Given the description of an element on the screen output the (x, y) to click on. 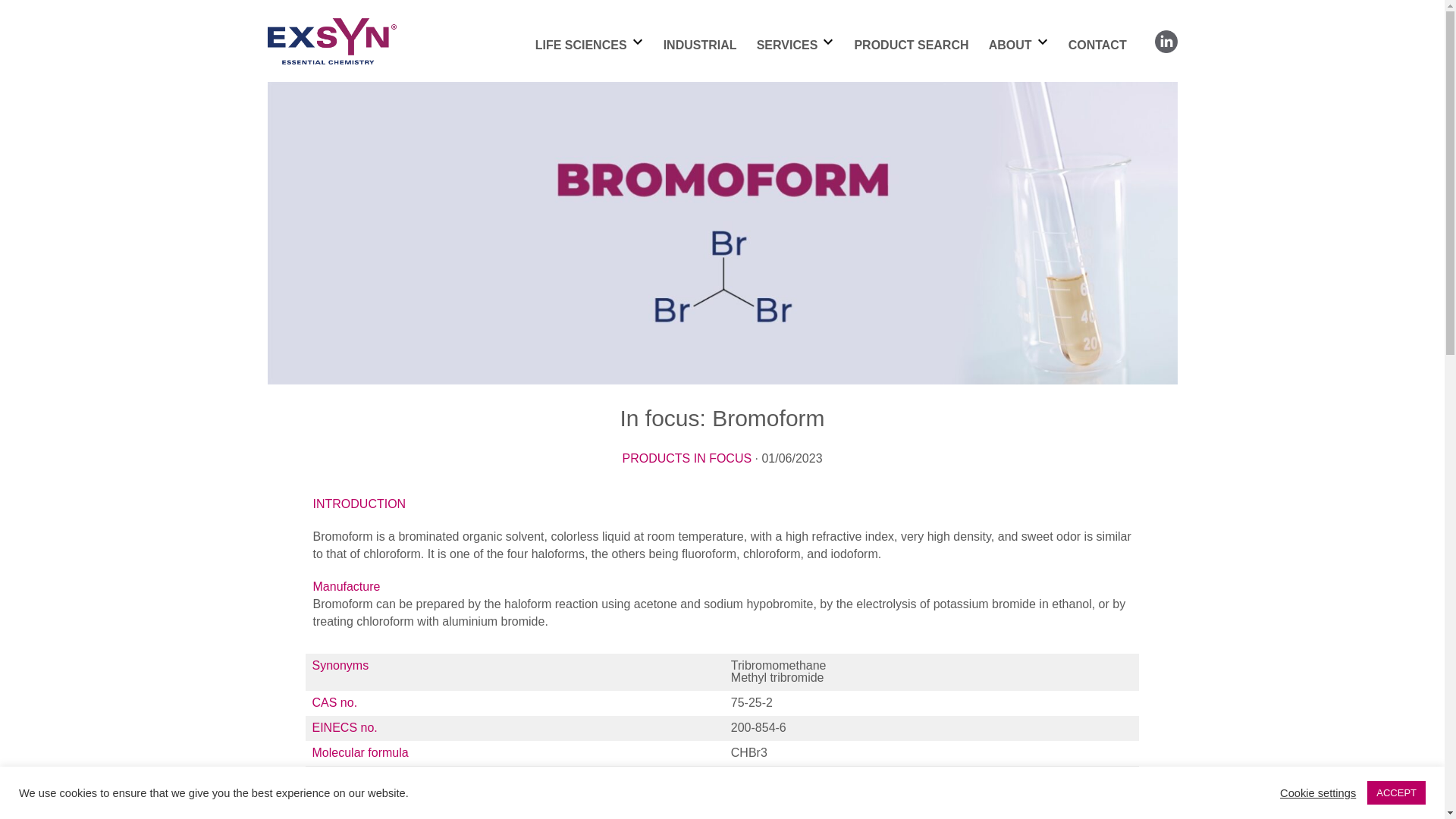
Linkedin (1165, 41)
PRODUCTS IN FOCUS (686, 458)
ABOUT (1010, 44)
LIFE SCIENCES (581, 44)
PRODUCT SEARCH (910, 44)
Exsyncorp (331, 40)
SERVICES (787, 44)
CONTACT (1097, 44)
INDUSTRIAL (699, 44)
